Given the description of an element on the screen output the (x, y) to click on. 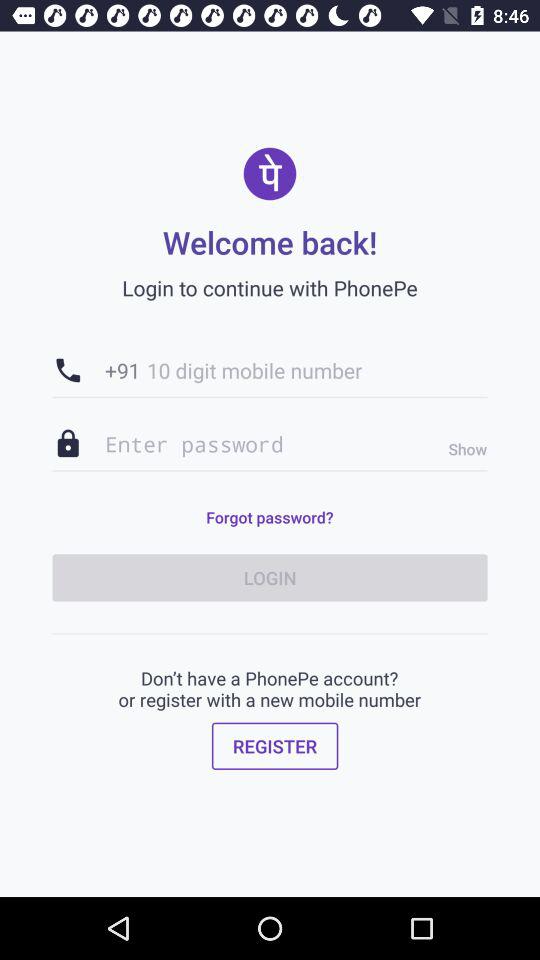
swipe to show item (462, 449)
